Given the description of an element on the screen output the (x, y) to click on. 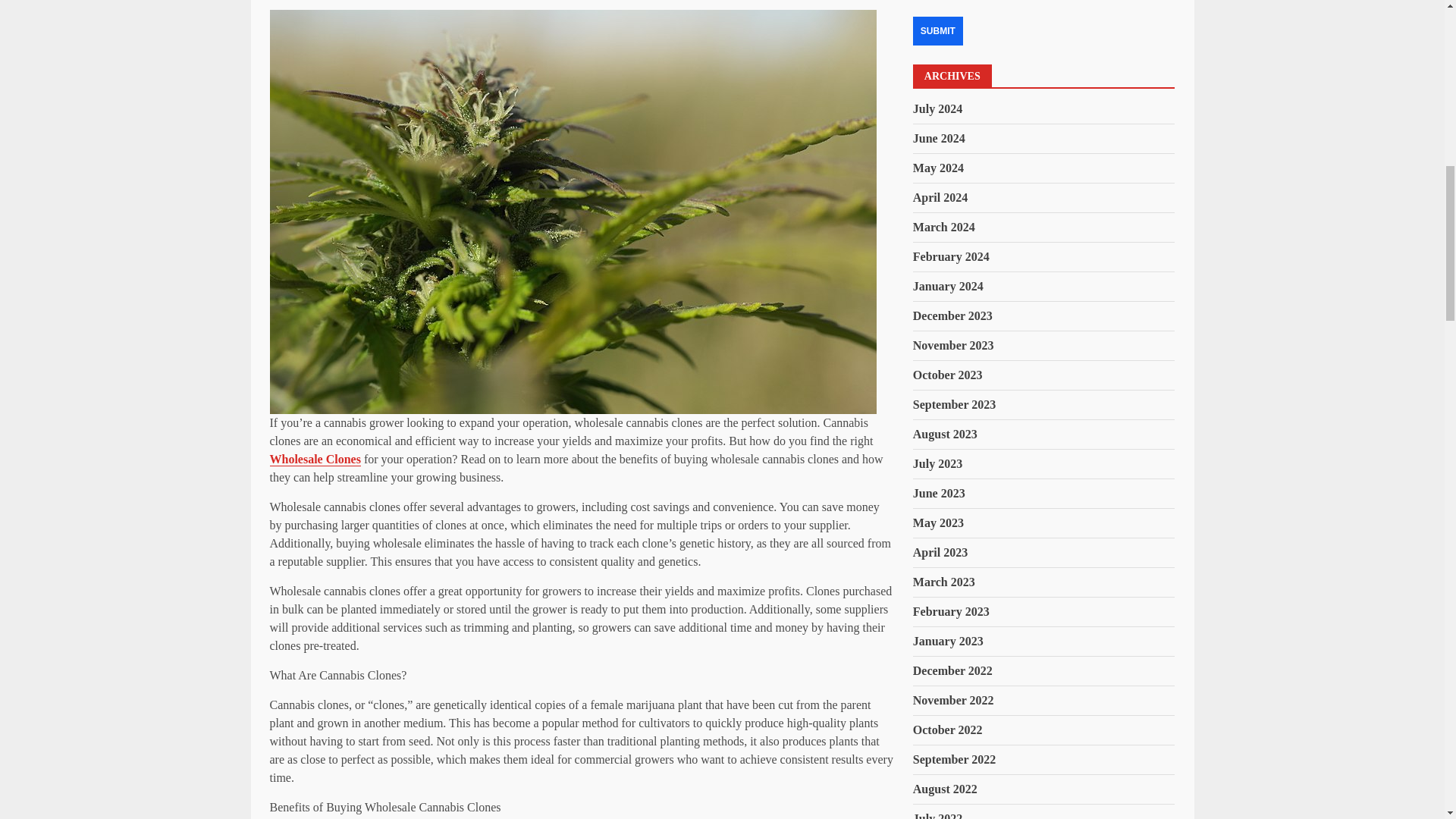
June 2024 (938, 137)
Submit (937, 30)
May 2024 (937, 167)
July 2024 (937, 108)
Wholesale Clones (315, 459)
March 2024 (943, 226)
Submit (937, 30)
April 2024 (940, 196)
